Given the description of an element on the screen output the (x, y) to click on. 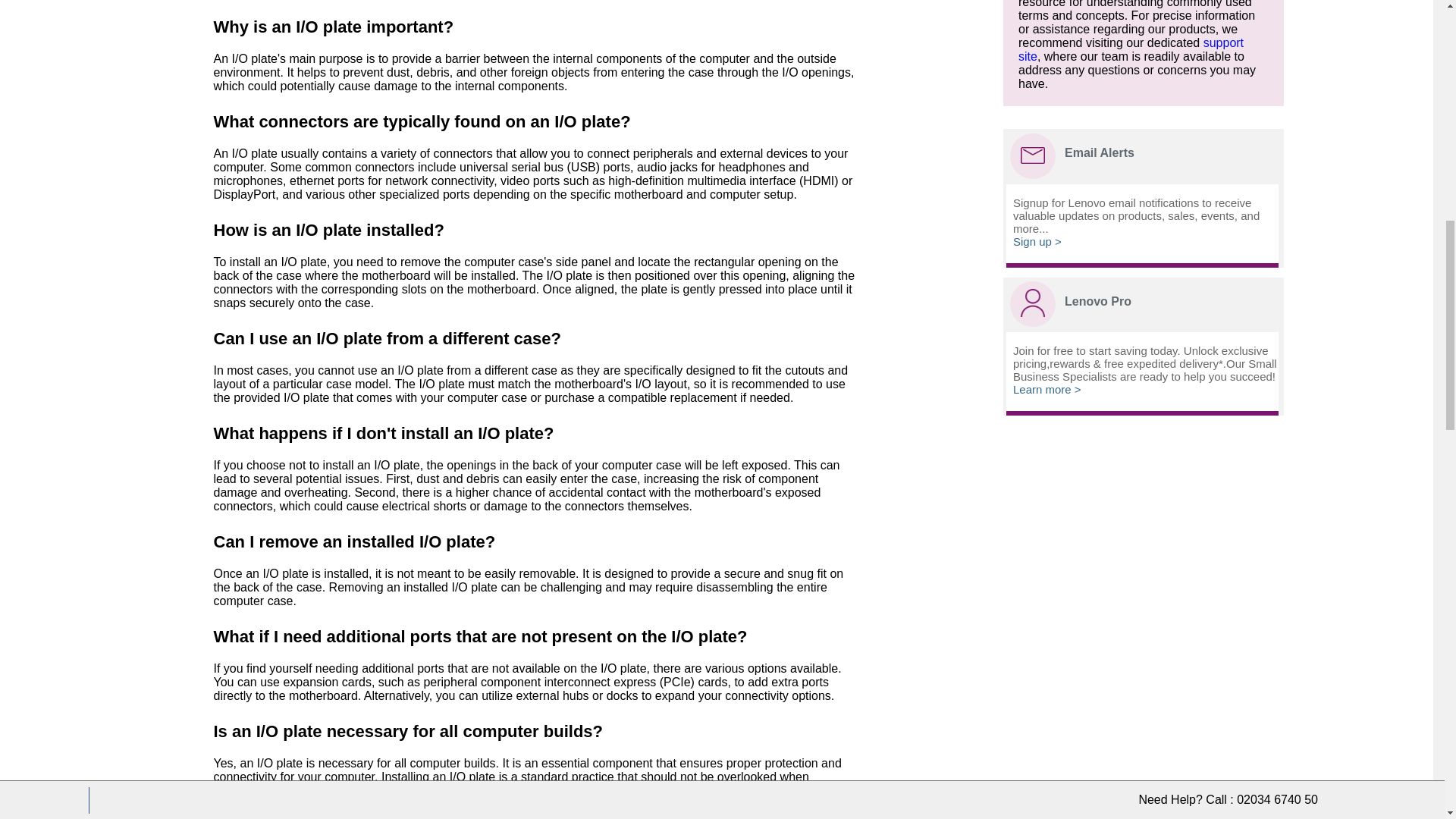
support site (1130, 49)
support site (1130, 49)
